Given the description of an element on the screen output the (x, y) to click on. 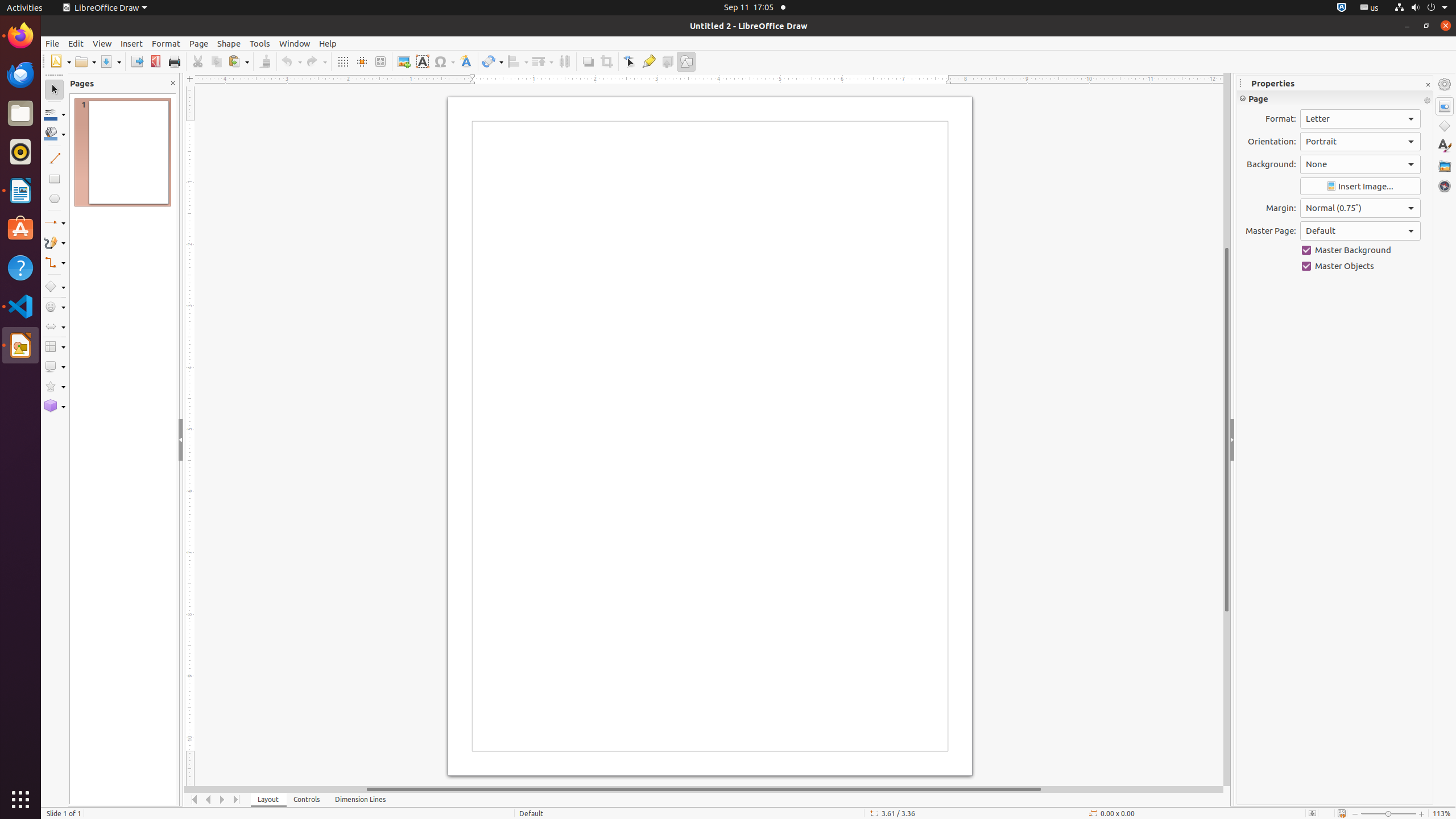
Image Element type: push-button (403, 61)
Files Element type: push-button (20, 113)
Layout Element type: page-tab (268, 799)
Flowchart Shapes Element type: push-button (54, 346)
Help Element type: menu (327, 43)
